Given the description of an element on the screen output the (x, y) to click on. 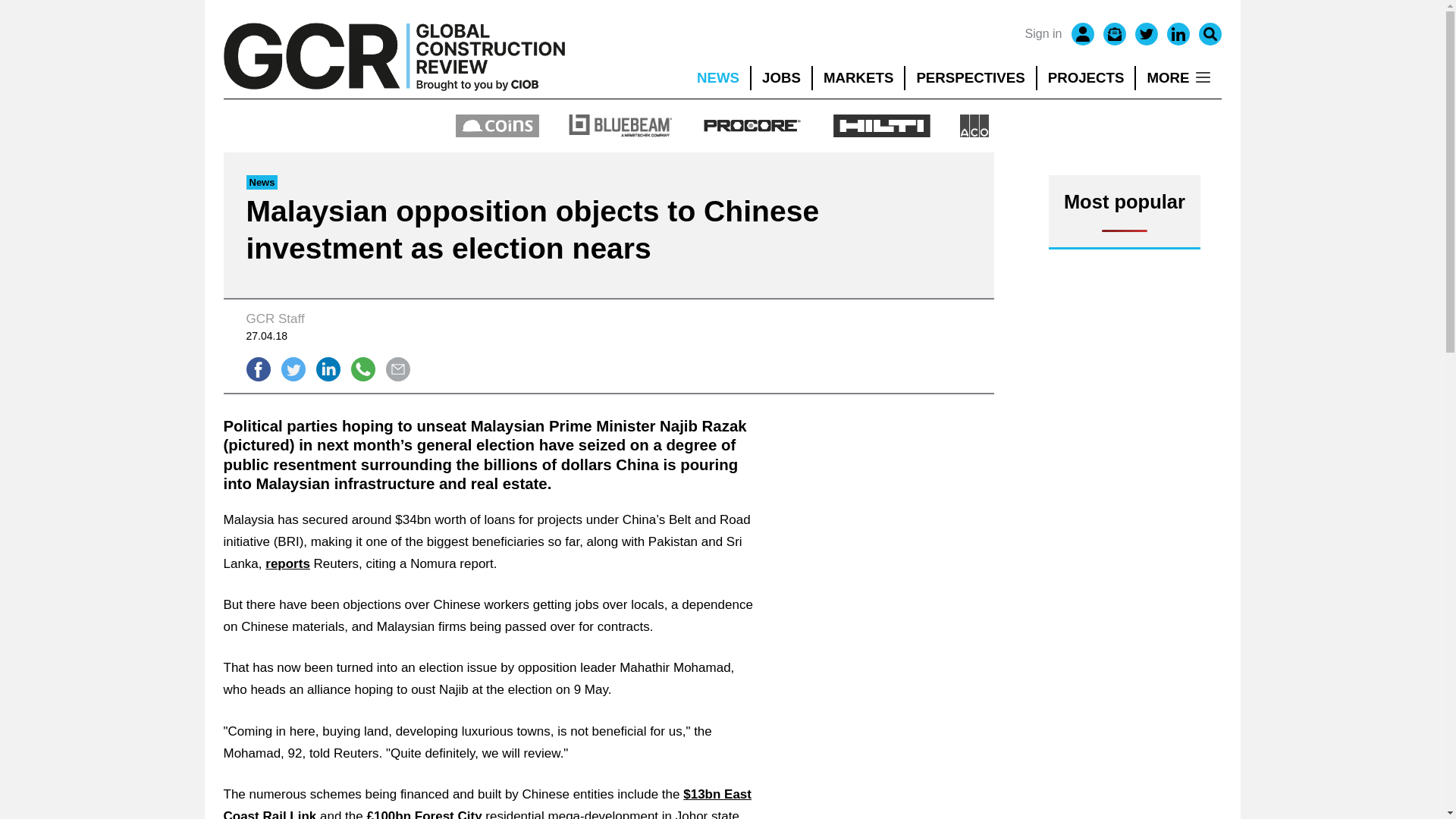
NEWS (717, 78)
Sign in (1043, 34)
MORE (1178, 78)
MARKETS (858, 78)
Share on LinkedIn (327, 369)
Tweet (292, 369)
Share on Facebook (257, 369)
Send email (397, 369)
PERSPECTIVES (970, 78)
PROJECTS (1085, 78)
JOBS (780, 78)
Share on WhatsApp (362, 369)
